Given the description of an element on the screen output the (x, y) to click on. 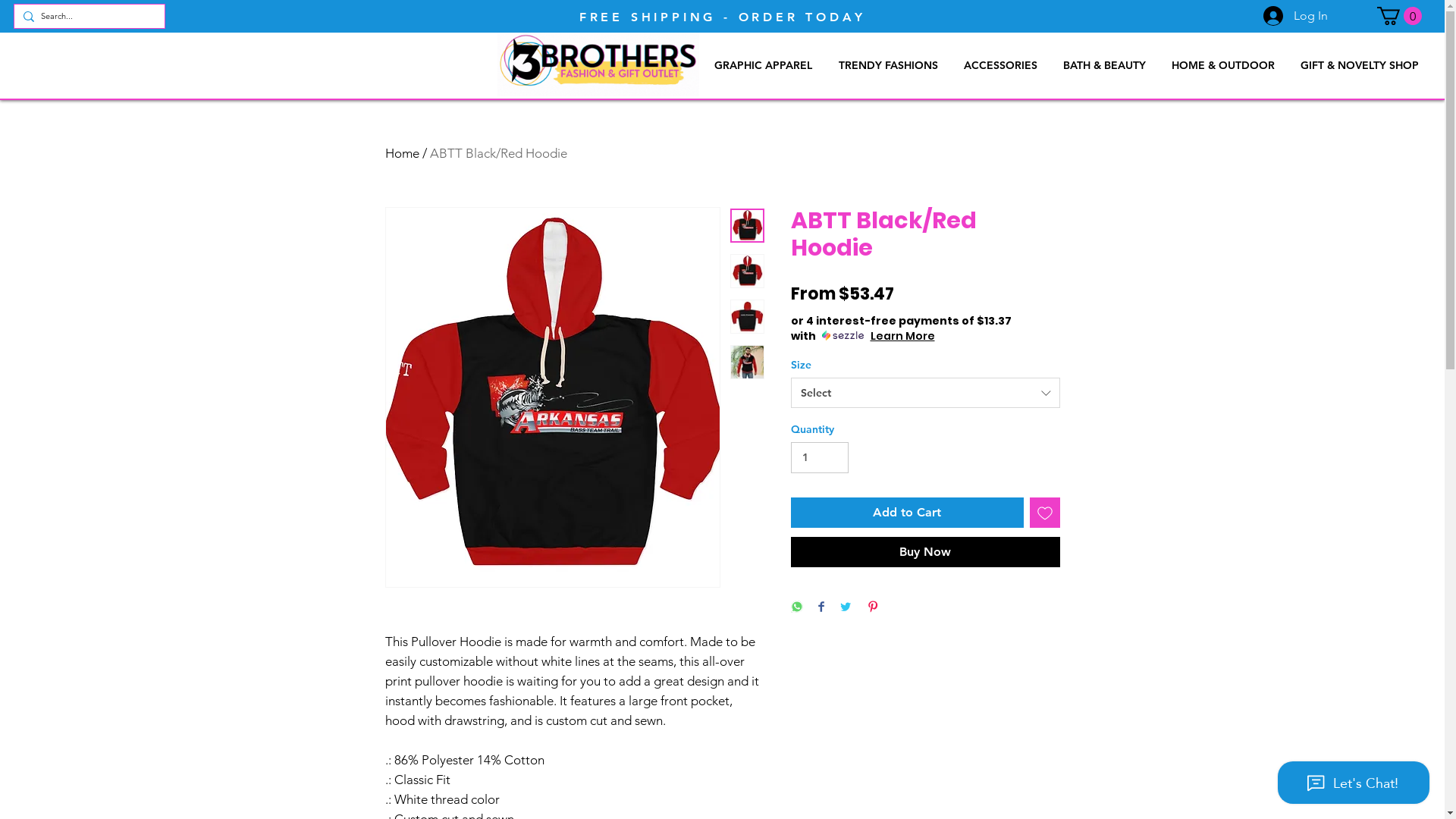
FREE SHIPPING - ORDER TODAY Element type: text (722, 16)
GIFT & NOVELTY SHOP Element type: text (1359, 65)
TRENDY FASHIONS Element type: text (887, 65)
HOME & OUTDOOR Element type: text (1222, 65)
0 Element type: text (1399, 15)
Add to Cart Element type: text (906, 512)
Select Element type: text (924, 392)
ACCESSORIES Element type: text (1000, 65)
GRAPHIC APPAREL Element type: text (762, 65)
Home Element type: text (402, 152)
BATH & BEAUTY Element type: text (1104, 65)
Log In Element type: text (1295, 15)
ABTT Black/Red Hoodie Element type: text (497, 152)
Buy Now Element type: text (924, 551)
